Given the description of an element on the screen output the (x, y) to click on. 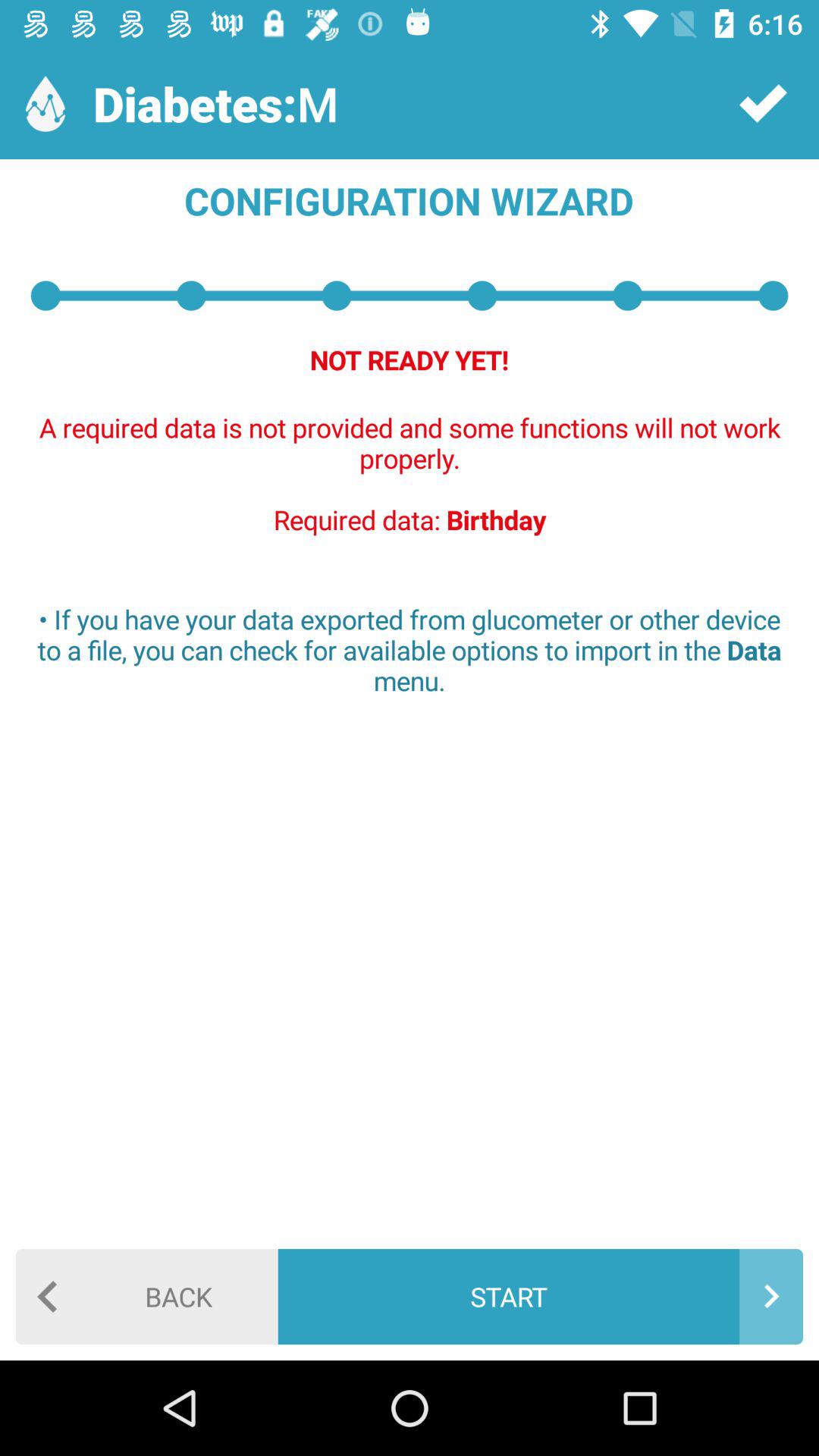
select icon at the bottom left corner (146, 1296)
